Given the description of an element on the screen output the (x, y) to click on. 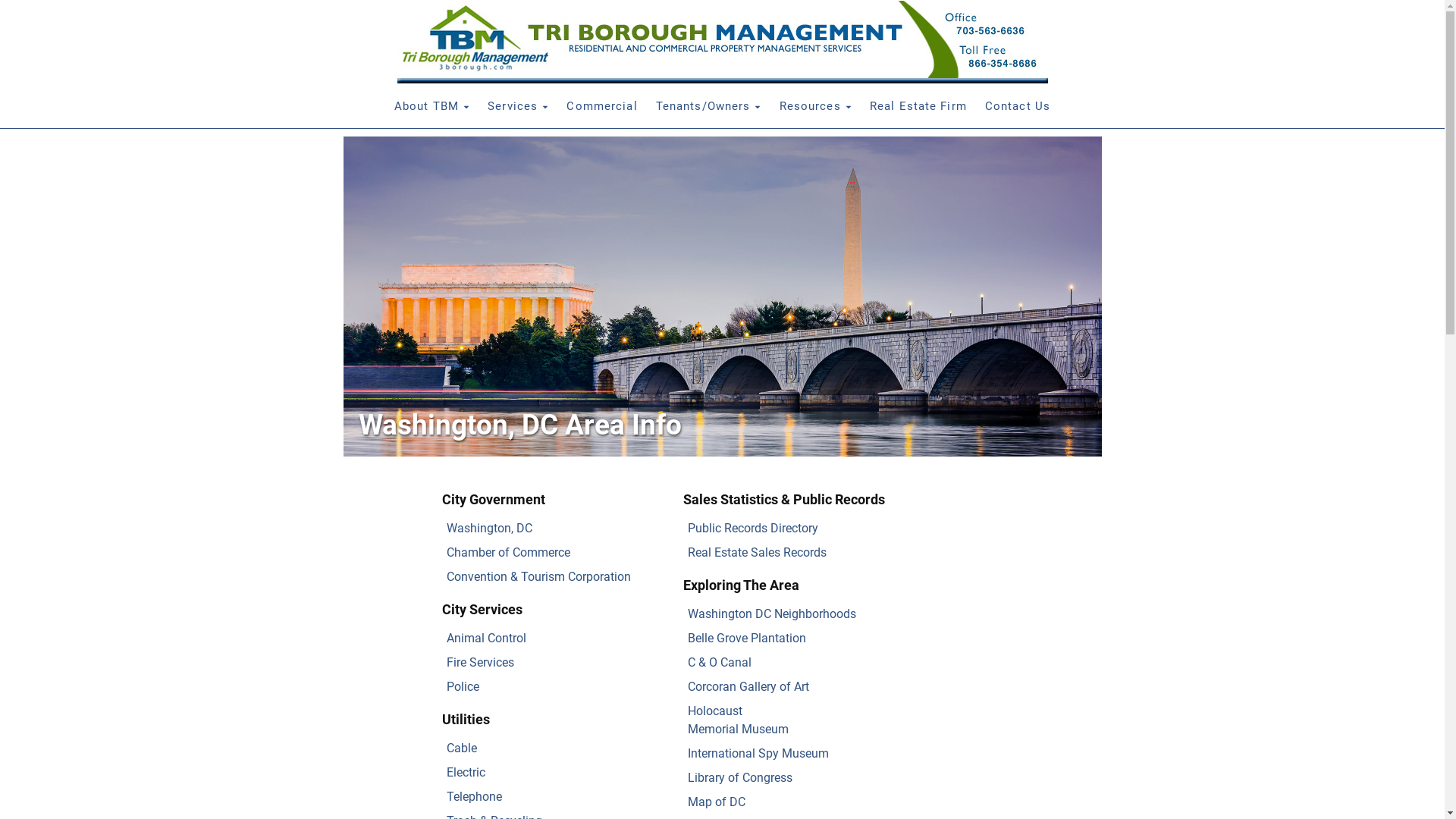
Tenants/Owners Element type: text (708, 105)
Real Estate Sales Records Element type: text (756, 552)
About TBM Element type: text (431, 105)
Police Element type: text (461, 686)
Services Element type: text (517, 105)
Washington, DC Element type: text (488, 527)
Cable Element type: text (460, 747)
Library of Congress Element type: text (739, 777)
Public Records Directory Element type: text (752, 527)
Telephone Element type: text (473, 796)
Washington DC Neighborhoods Element type: text (771, 613)
Chamber of Commerce Element type: text (507, 552)
Real Estate Firm Element type: text (918, 105)
Resources Element type: text (815, 105)
Animal Control Element type: text (485, 637)
Electric Element type: text (464, 772)
Holocaust
Memorial Museum Element type: text (737, 719)
C & O Canal Element type: text (718, 662)
Corcoran Gallery of Art Element type: text (747, 686)
Belle Grove Plantation Element type: text (746, 637)
Contact Us Element type: text (1017, 105)
Map of DC Element type: text (715, 801)
International Spy Museum Element type: text (757, 753)
Convention & Tourism Corporation Element type: text (537, 576)
Commercial Element type: text (601, 105)
Fire Services Element type: text (479, 662)
